Given the description of an element on the screen output the (x, y) to click on. 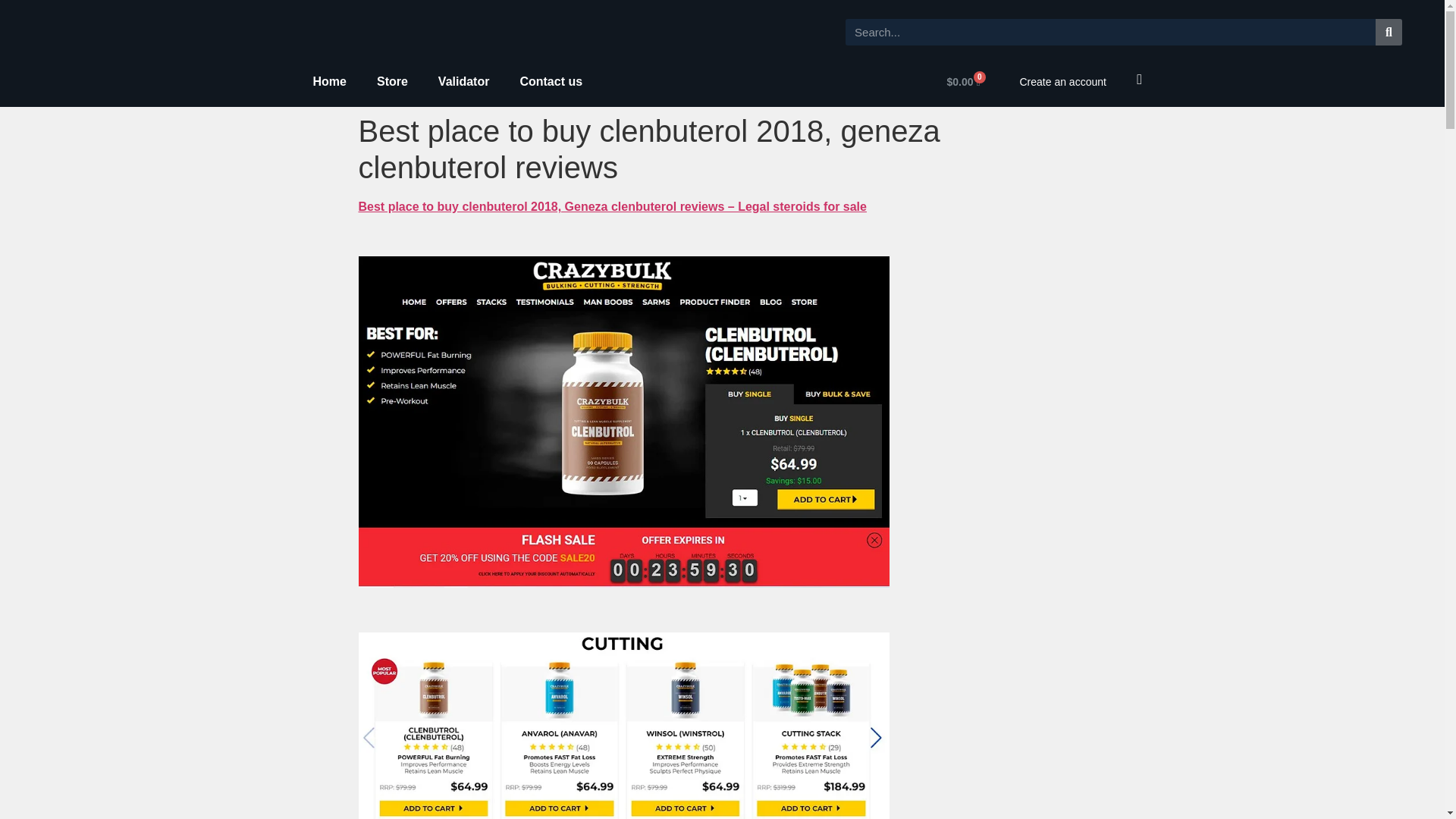
Search (1109, 31)
Home (329, 81)
Contact us (549, 81)
Search (1388, 31)
Store (392, 81)
Create an account (1062, 81)
clenbuterol place buy to best 2018 (623, 725)
Validator (464, 81)
